Given the description of an element on the screen output the (x, y) to click on. 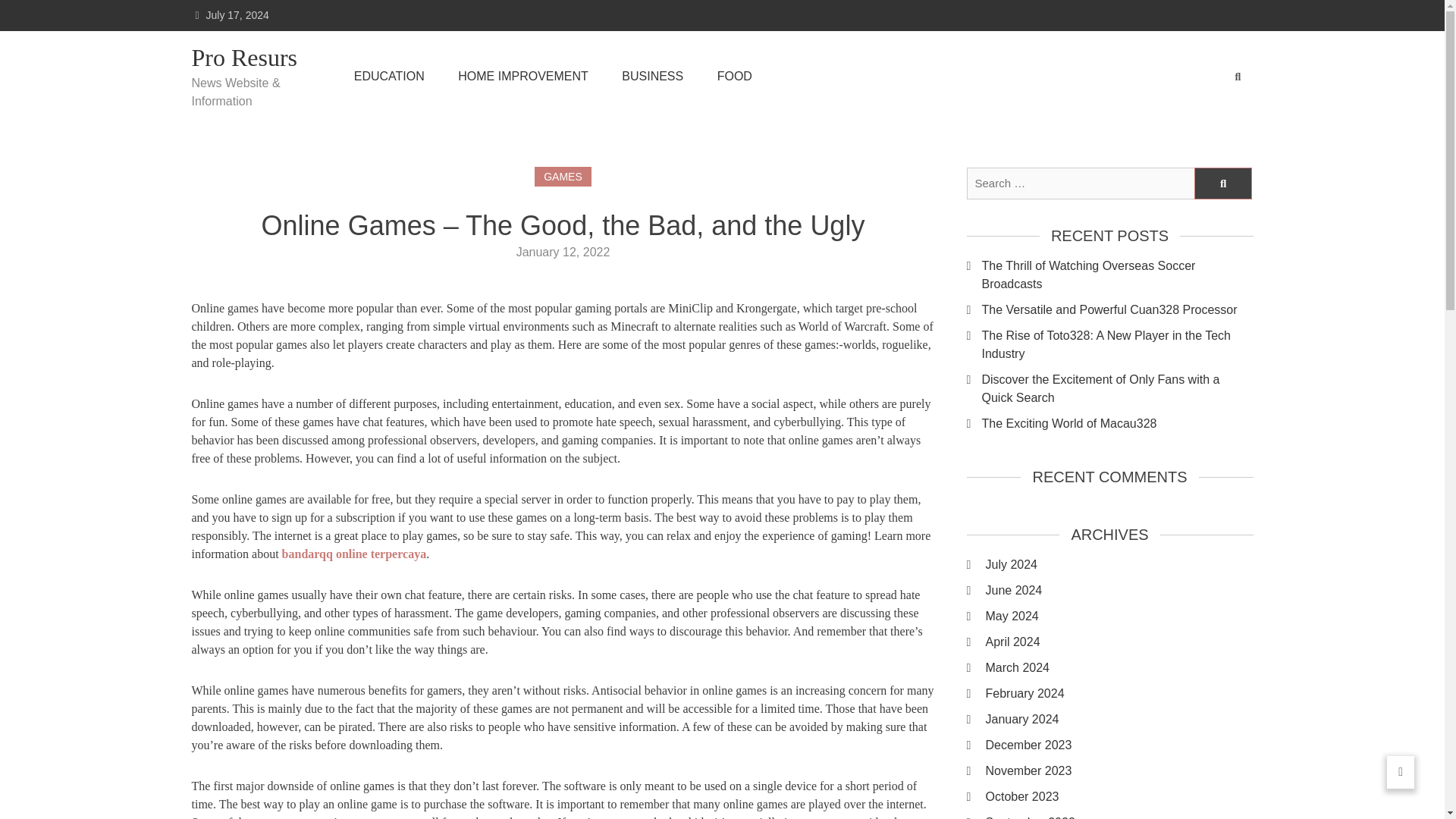
HOME IMPROVEMENT (523, 76)
June 2024 (1119, 590)
EDUCATION (389, 76)
February 2024 (1119, 693)
May 2024 (1119, 616)
The Rise of Toto328: A New Player in the Tech Industry (1116, 344)
April 2024 (1119, 642)
BUSINESS (651, 76)
The Versatile and Powerful Cuan328 Processor (1116, 310)
November 2023 (1119, 771)
Pro Resurs (252, 58)
The Thrill of Watching Overseas Soccer Broadcasts (1116, 275)
January 12, 2022 (563, 251)
December 2023 (1119, 745)
GAMES (562, 176)
